Given the description of an element on the screen output the (x, y) to click on. 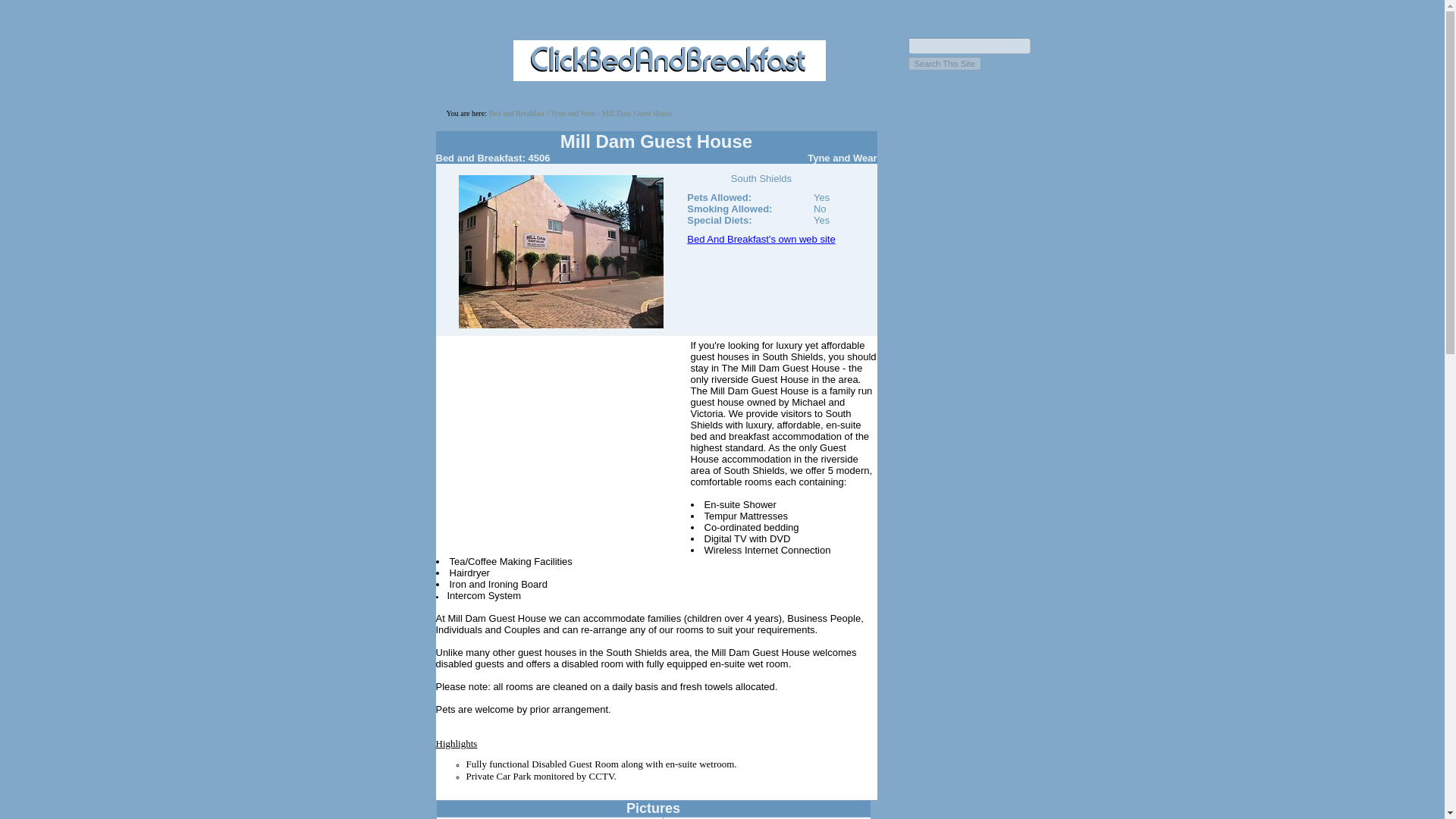
Tyne and Wear (572, 112)
Search This Site (944, 63)
home (515, 112)
Bed and Breakfast (515, 112)
Bed And Breakfast's own web site (760, 238)
ClickBedAndBreakfast (668, 72)
Search This Site (944, 63)
Tyne and Wear (572, 112)
